Given the description of an element on the screen output the (x, y) to click on. 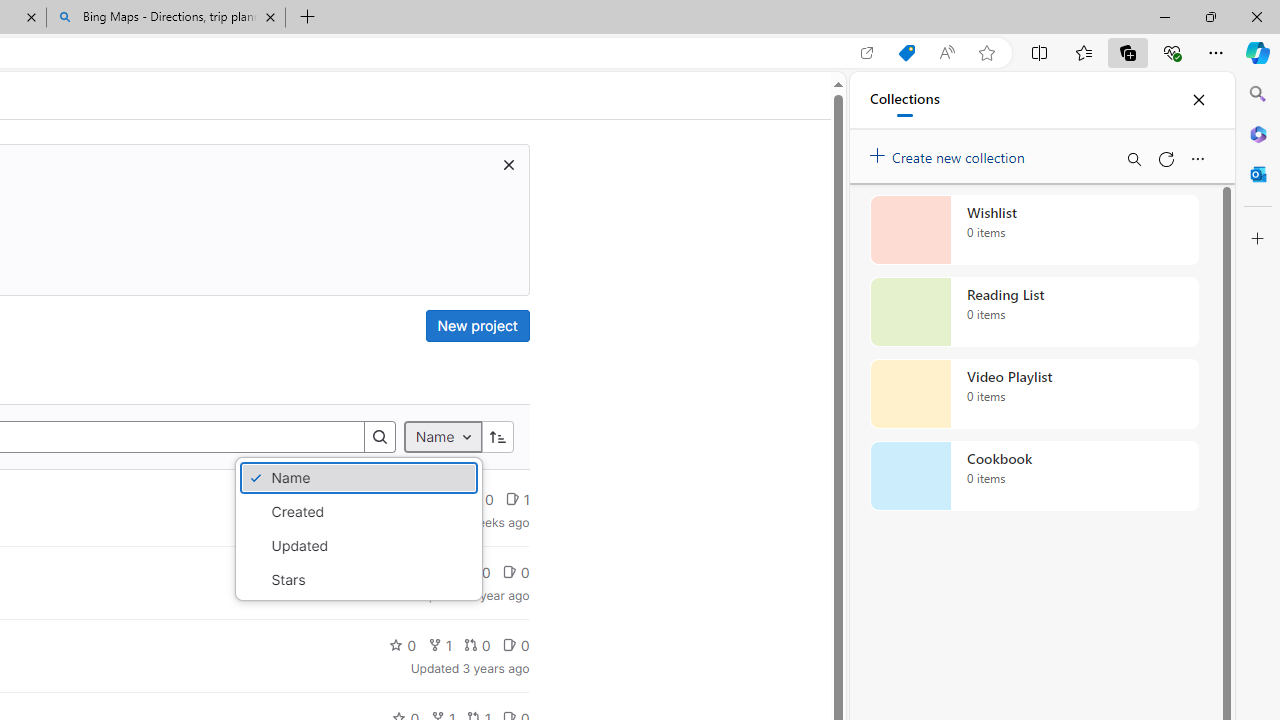
Name (358, 478)
Class: s14 gl-mr-2 (509, 645)
New project (476, 326)
Cookbook collection, 0 items (1034, 475)
Created (358, 512)
Name (442, 437)
Open in app (867, 53)
Wishlist collection, 0 items (1034, 229)
More options menu (1197, 158)
